Given the description of an element on the screen output the (x, y) to click on. 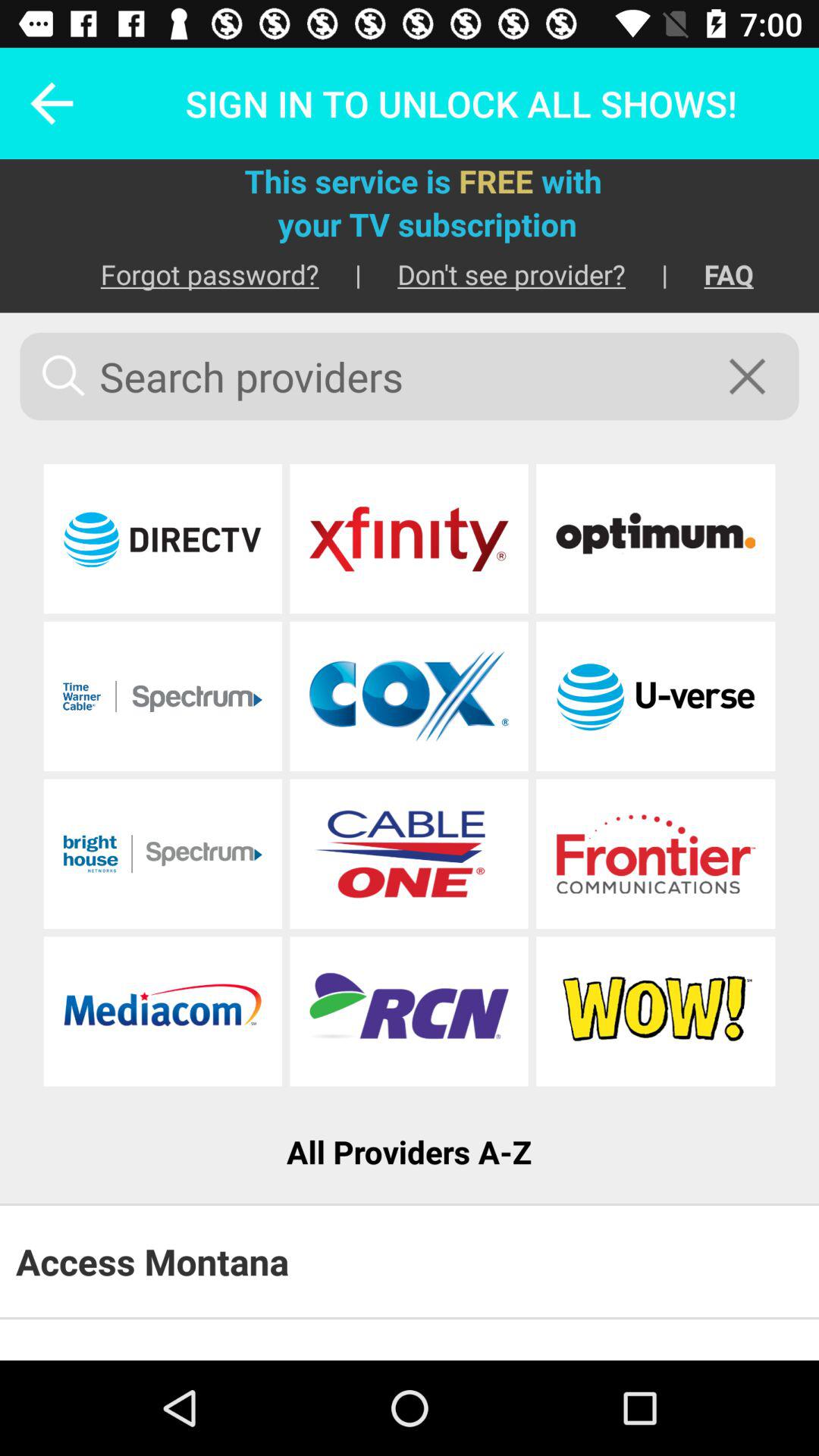
select mediacom (162, 1011)
